Given the description of an element on the screen output the (x, y) to click on. 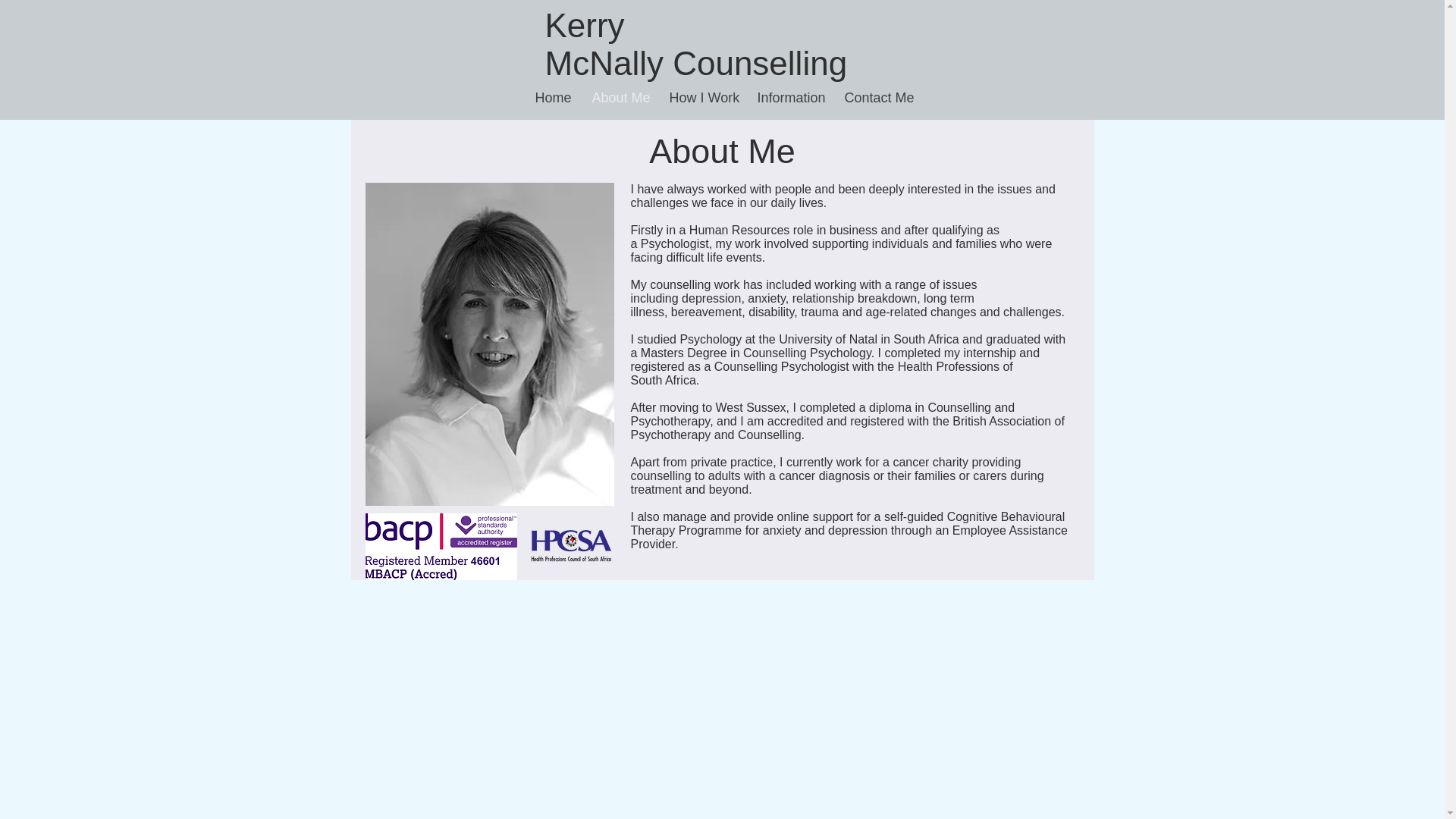
Contact Me (876, 97)
About Me (619, 97)
Information (788, 97)
How I Work (701, 97)
Home (550, 97)
